Given the description of an element on the screen output the (x, y) to click on. 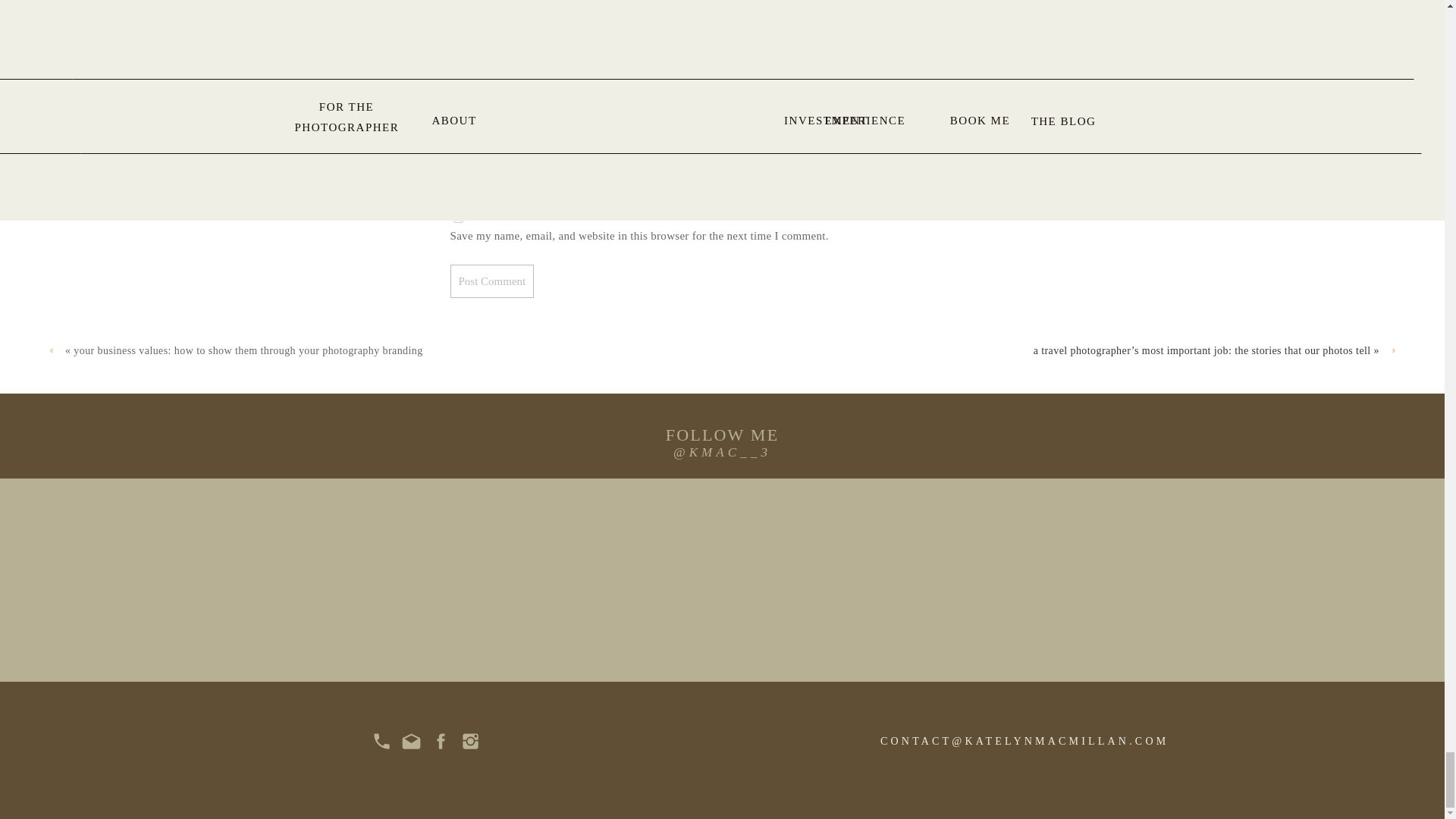
Post Comment (491, 281)
Post Comment (491, 281)
yes (457, 217)
